Given the description of an element on the screen output the (x, y) to click on. 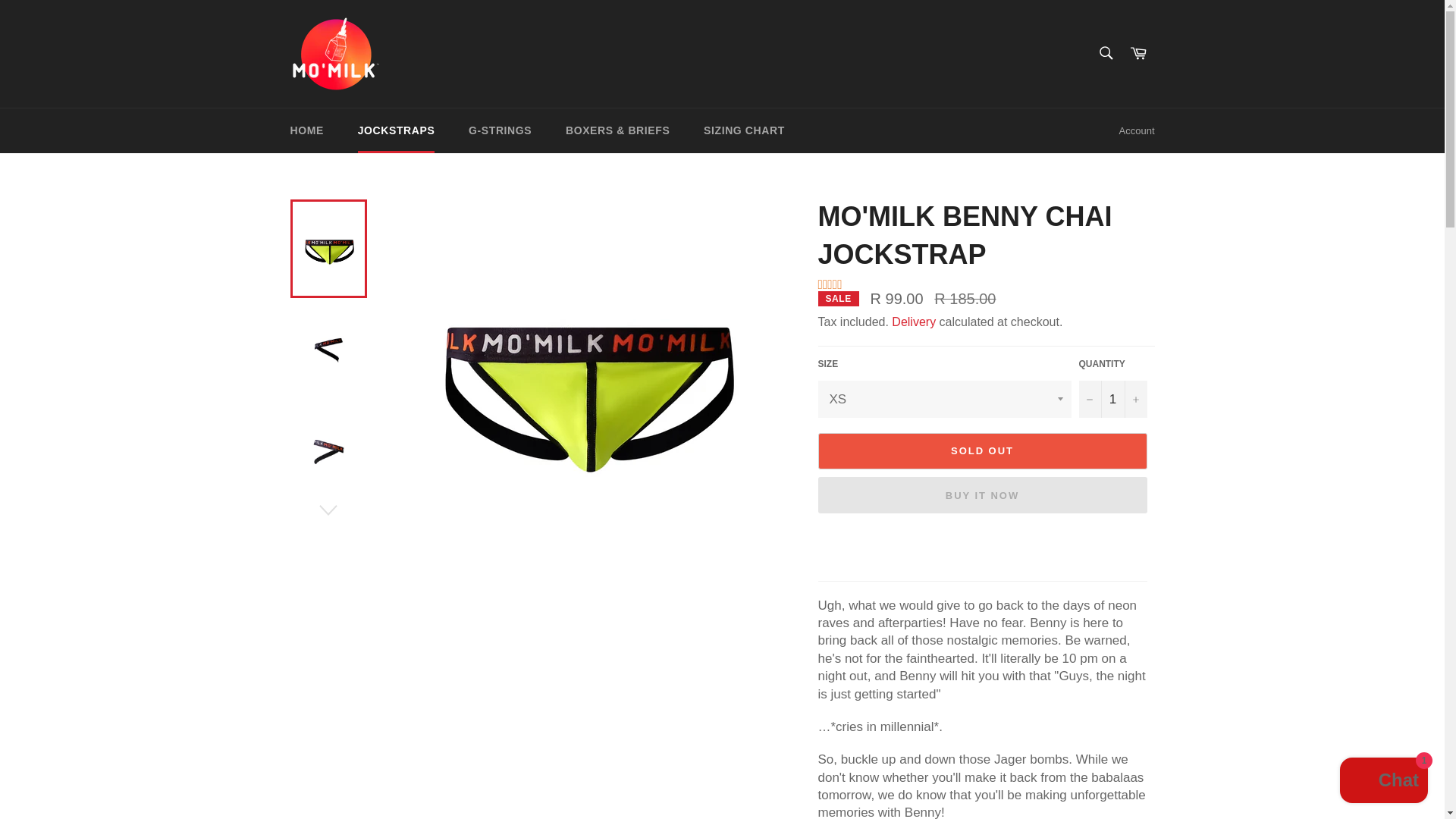
Cart (1138, 53)
JOCKSTRAPS (395, 130)
Account (1136, 130)
Delivery (913, 321)
SOLD OUT (981, 451)
Search (1104, 51)
G-STRINGS (499, 130)
Shopify online store chat (1383, 781)
SIZING CHART (743, 130)
1 (1112, 398)
HOME (306, 130)
